Given the description of an element on the screen output the (x, y) to click on. 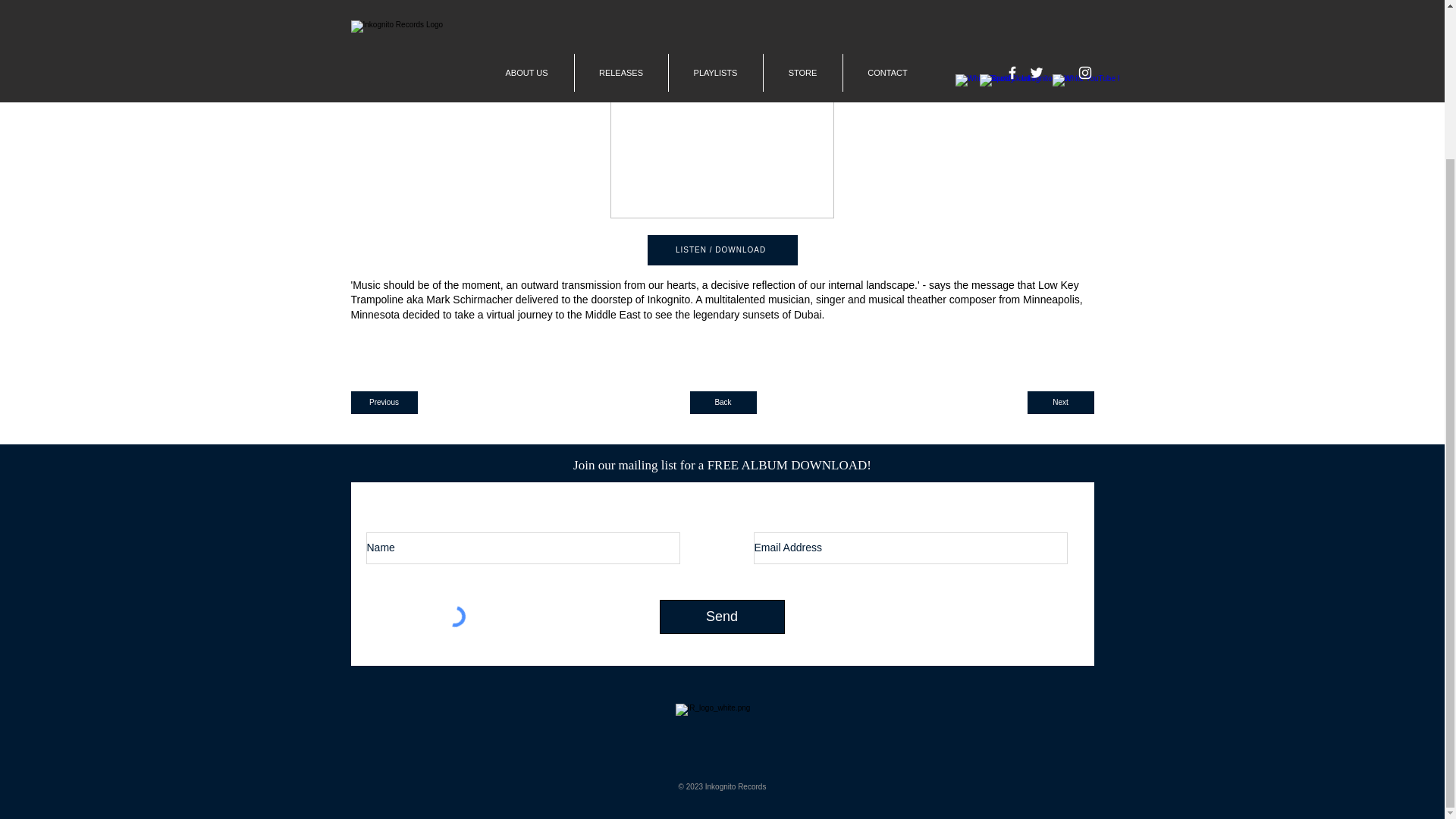
Back (723, 402)
Next (1059, 402)
Previous (383, 402)
Send (721, 616)
